Given the description of an element on the screen output the (x, y) to click on. 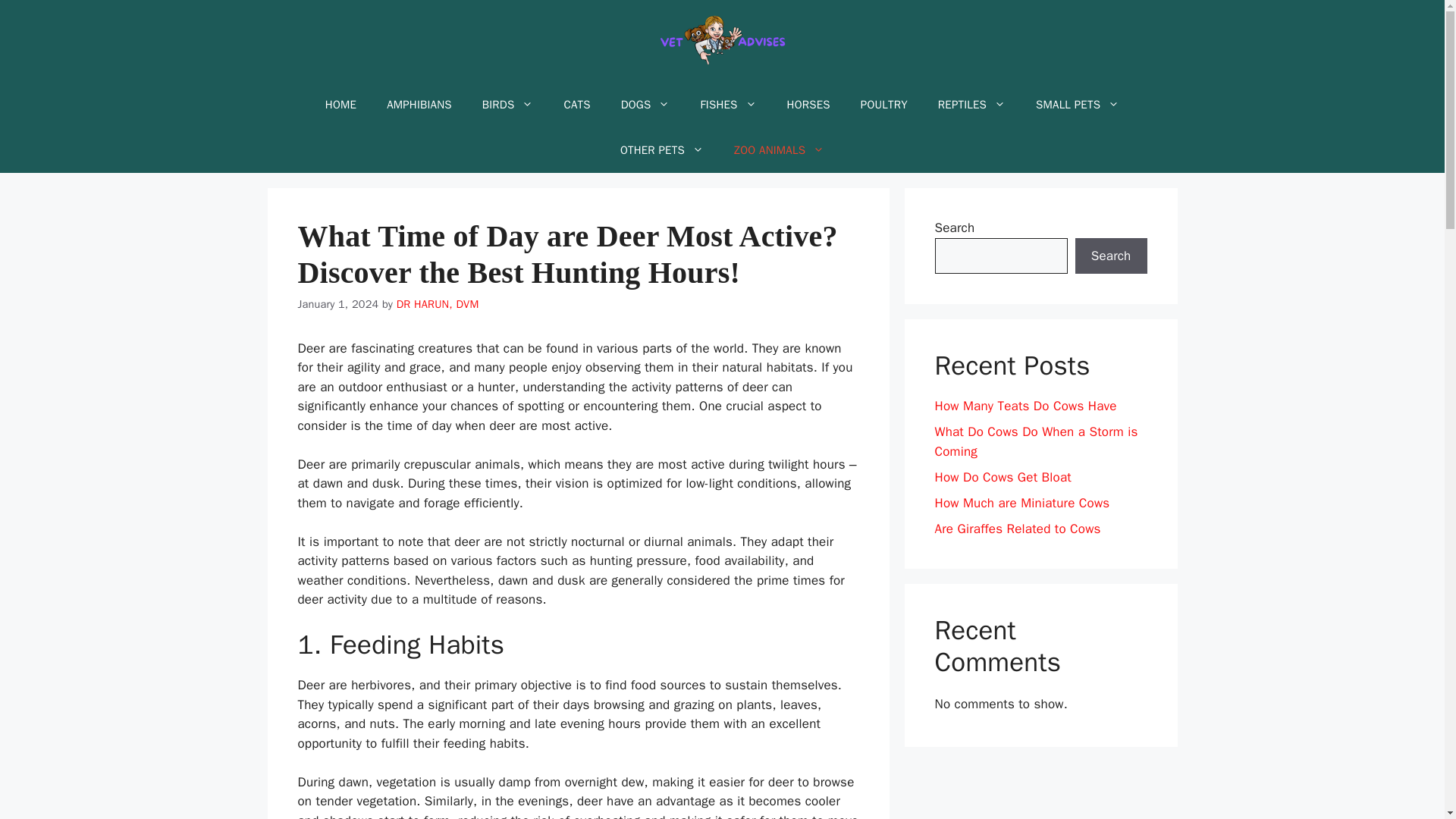
View all posts by DR HARUN, DVM (437, 304)
SMALL PETS (1077, 104)
CATS (576, 104)
ZOO ANIMALS (779, 149)
OTHER PETS (662, 149)
DR HARUN, DVM (437, 304)
REPTILES (971, 104)
HORSES (808, 104)
POULTRY (884, 104)
DOGS (645, 104)
AMPHIBIANS (419, 104)
HOME (340, 104)
FISHES (727, 104)
BIRDS (507, 104)
